Given the description of an element on the screen output the (x, y) to click on. 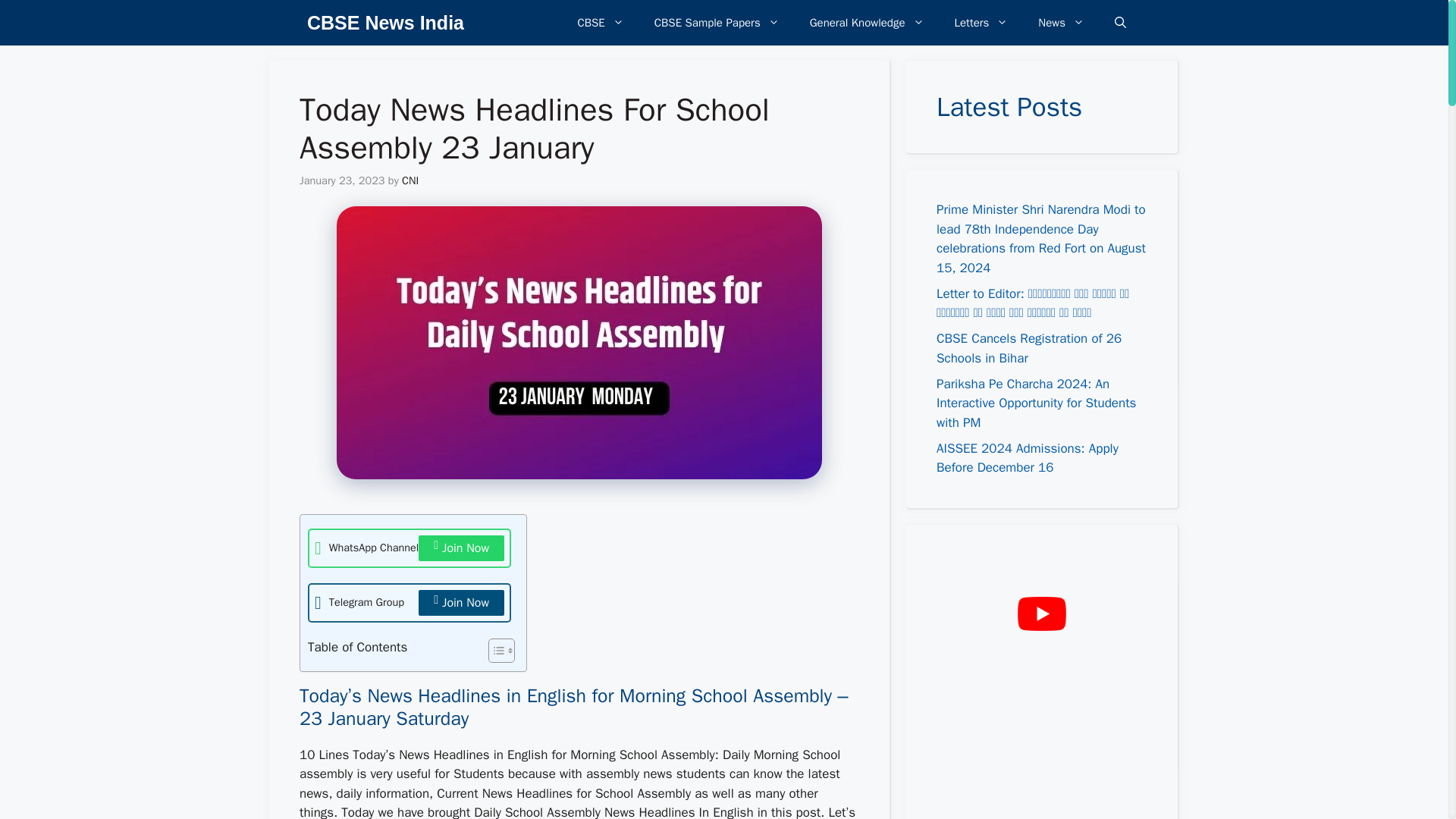
CBSE (600, 22)
Letters (981, 22)
News (1061, 22)
Join Now (461, 548)
CNI (410, 180)
CBSE Sample Papers (716, 22)
General Knowledge (866, 22)
View all posts by CNI (410, 180)
CBSE News India (385, 22)
Join Now (461, 602)
